Given the description of an element on the screen output the (x, y) to click on. 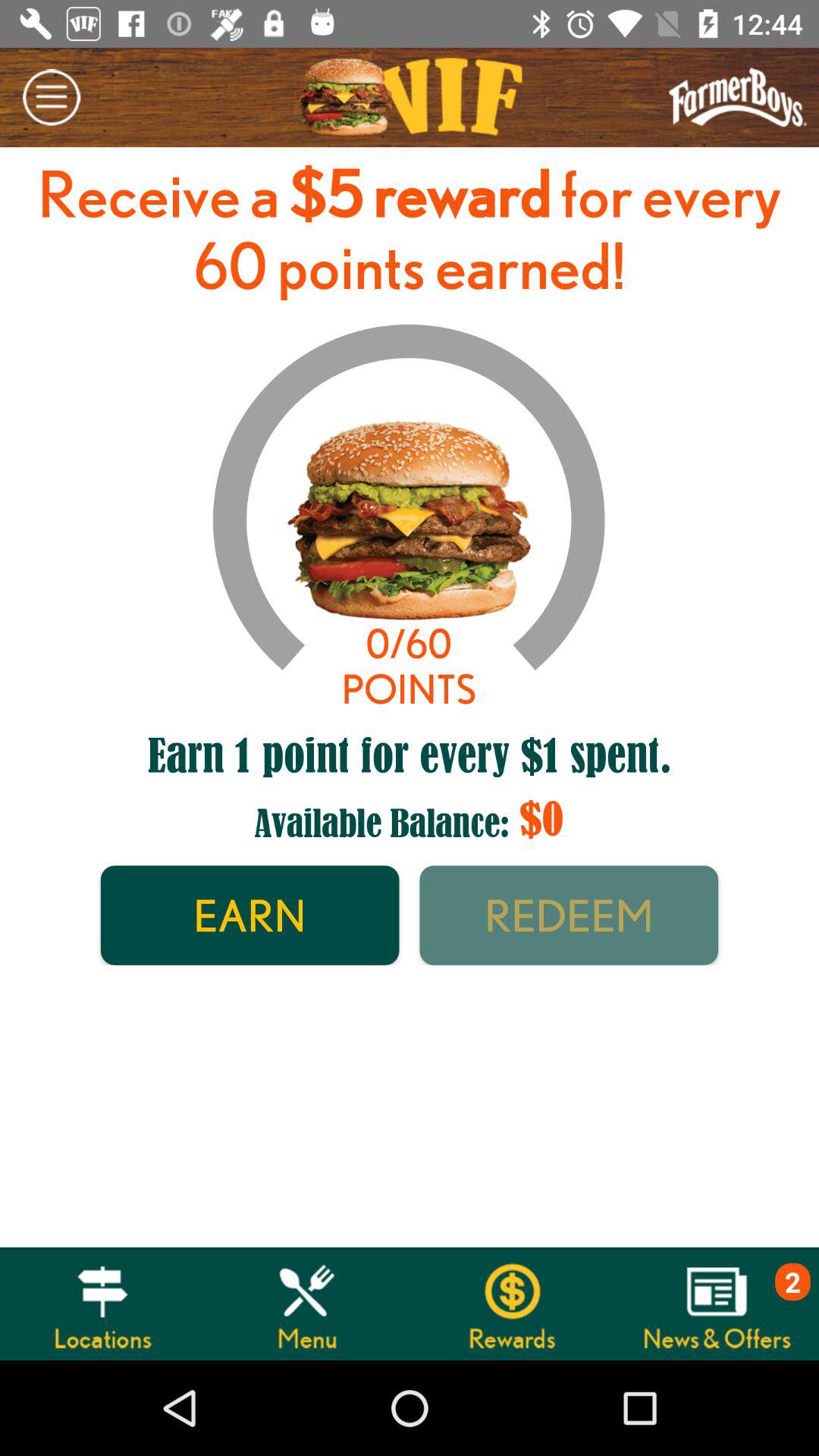
select item on the right (568, 915)
